Given the description of an element on the screen output the (x, y) to click on. 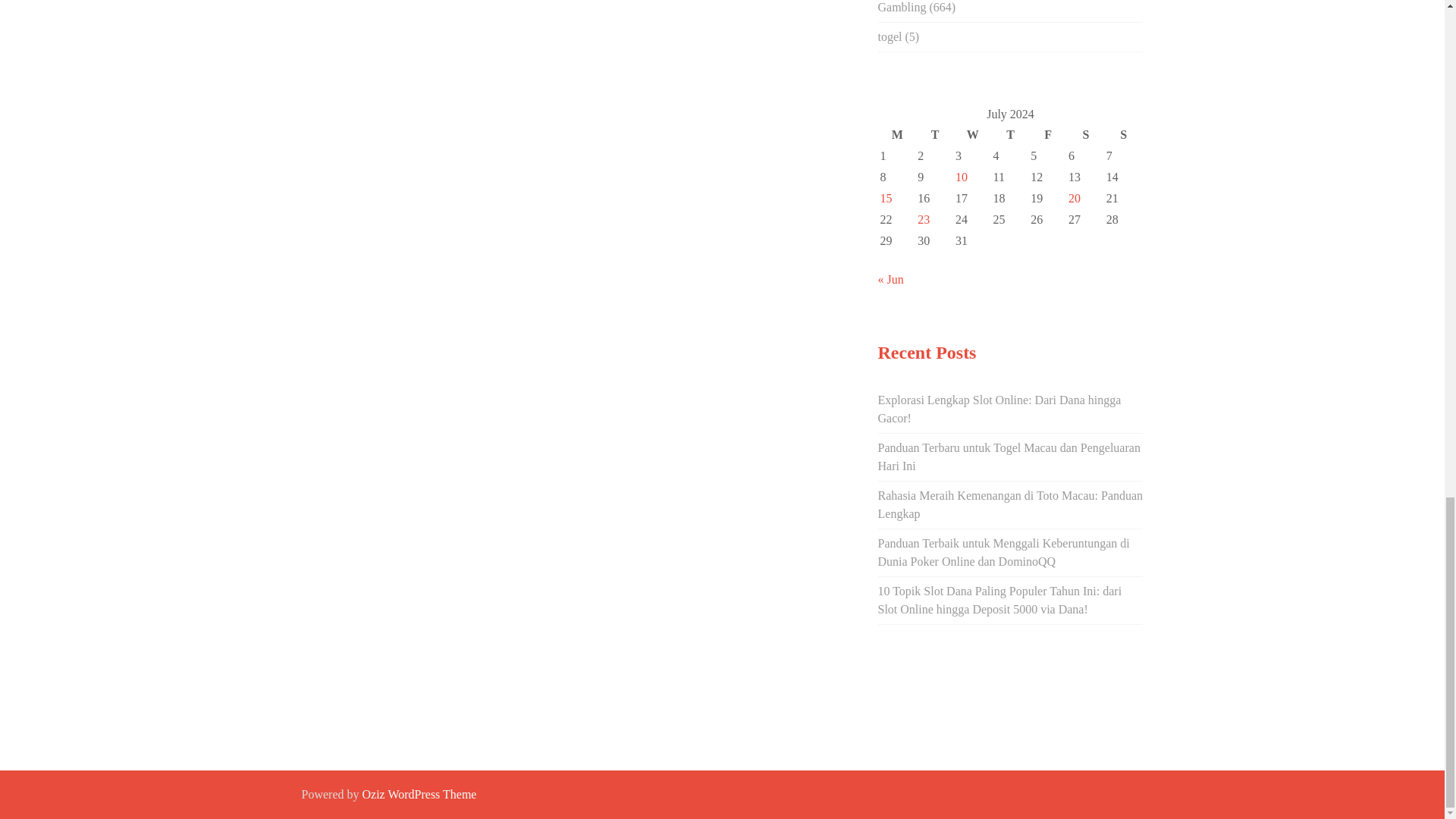
10 (961, 176)
Thursday (1010, 134)
Friday (1047, 134)
Tuesday (935, 134)
Wednesday (973, 134)
Monday (897, 134)
Saturday (1085, 134)
Gambling (901, 6)
togel (889, 36)
Sunday (1123, 134)
